Given the description of an element on the screen output the (x, y) to click on. 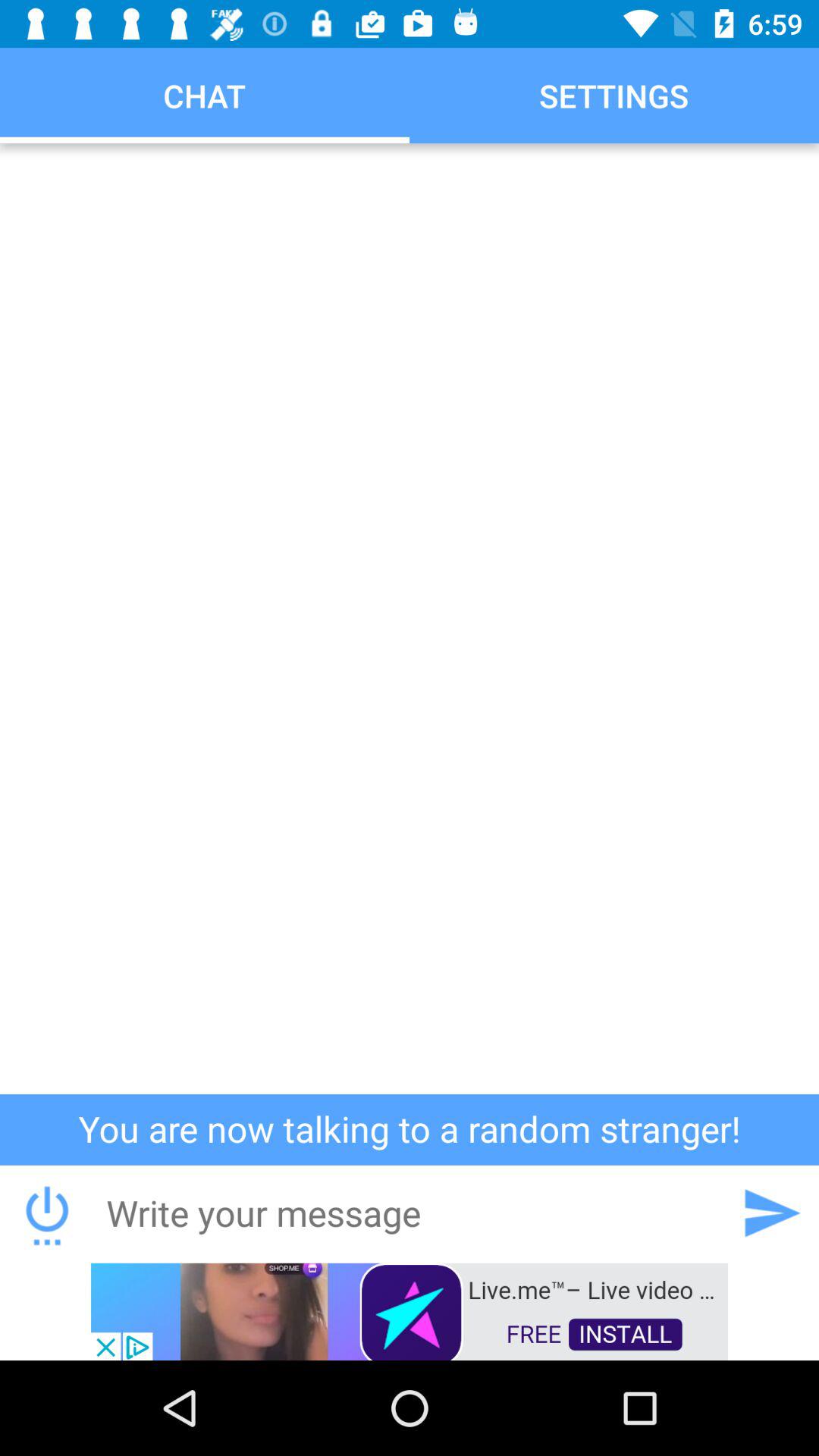
enter message (409, 1212)
